Given the description of an element on the screen output the (x, y) to click on. 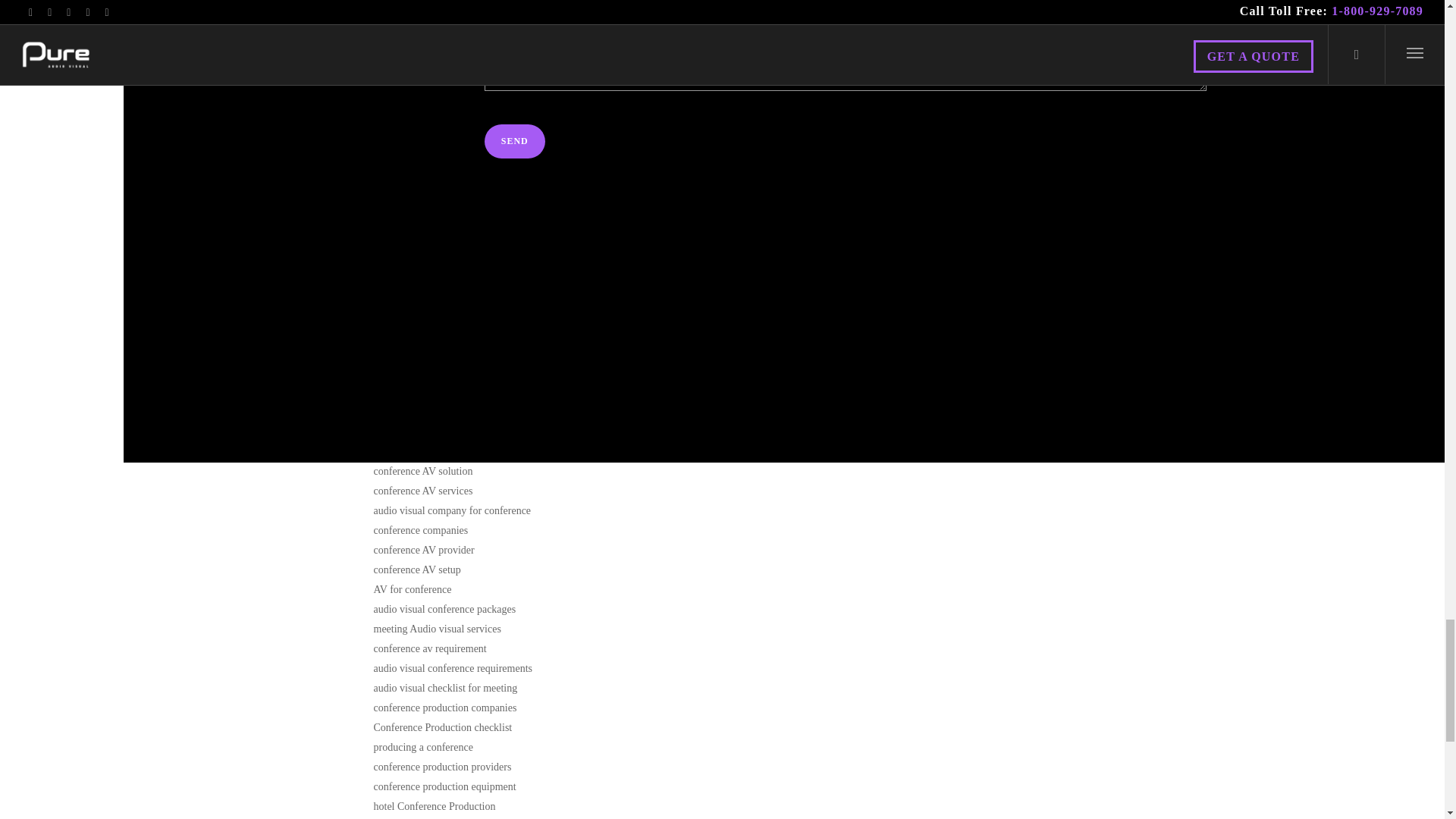
Send (514, 141)
